Given the description of an element on the screen output the (x, y) to click on. 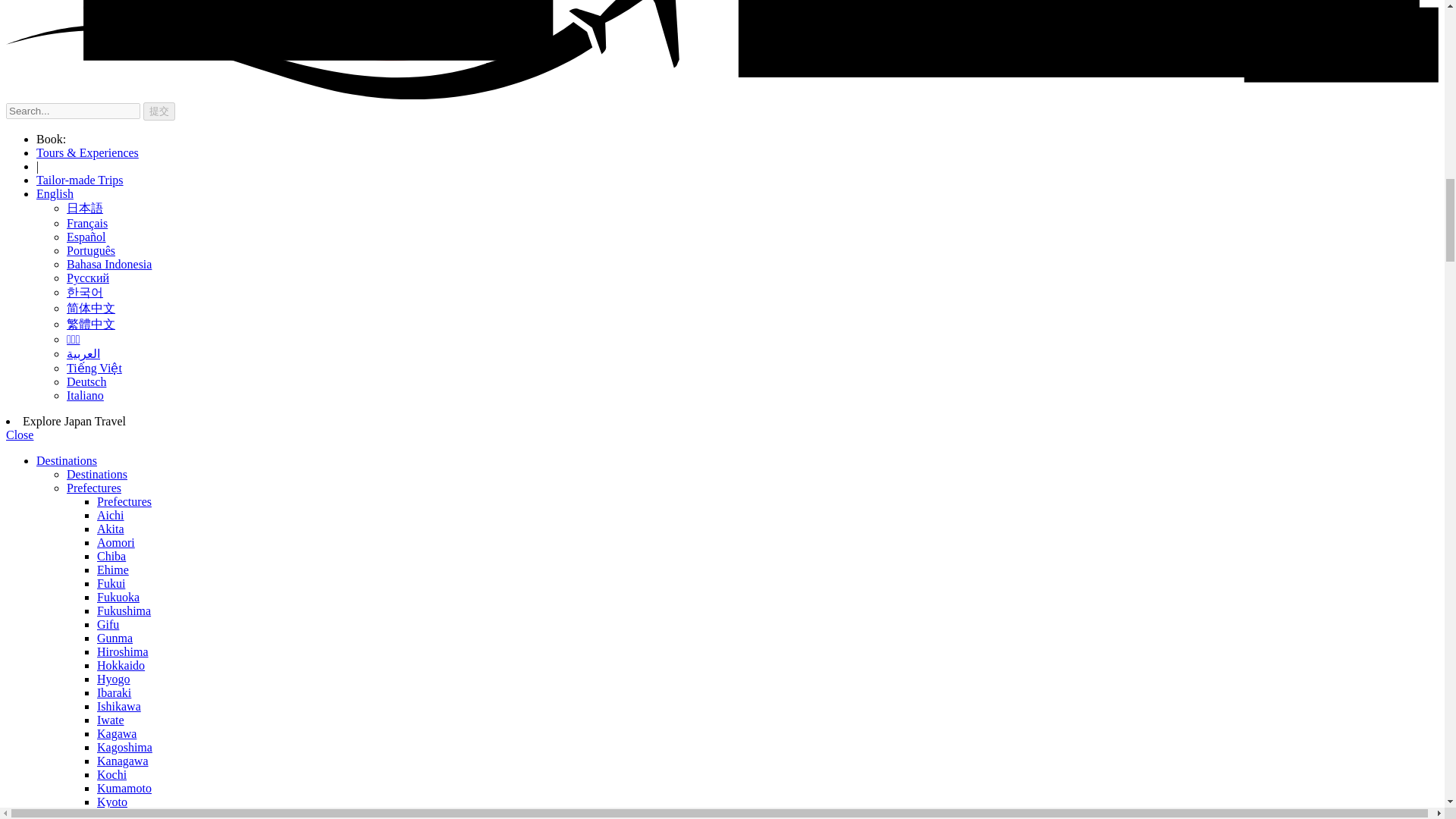
Tailor-made Trips (79, 179)
Gunma (114, 637)
Aomori (116, 542)
Bahasa Indonesia (108, 264)
Gifu (108, 624)
Fukushima (124, 610)
Chiba (111, 555)
Aichi (110, 514)
Hokkaido (120, 665)
Fukuoka (118, 596)
Akita (110, 528)
Deutsch (86, 381)
Hyogo (114, 678)
Italiano (84, 395)
Fukui (111, 583)
